Given the description of an element on the screen output the (x, y) to click on. 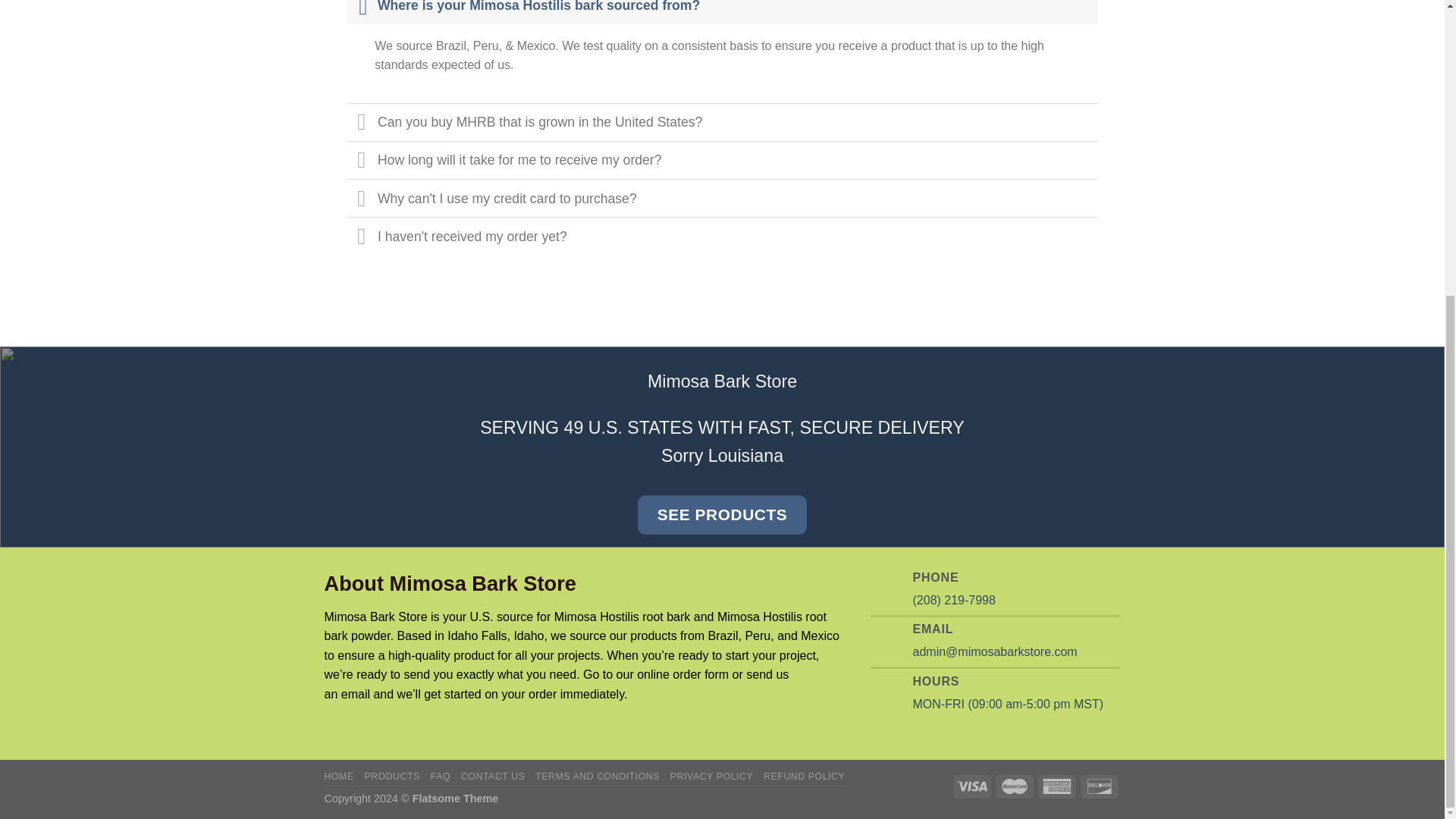
PRODUCTS (392, 776)
TERMS AND CONDITIONS (597, 776)
SEE PRODUCTS (722, 515)
REFUND POLICY (803, 776)
email (354, 694)
online order form (683, 674)
FAQ (439, 776)
Where is your Mimosa Hostilis bark sourced from? (722, 11)
HOME (338, 776)
PRIVACY POLICY (710, 776)
